Given the description of an element on the screen output the (x, y) to click on. 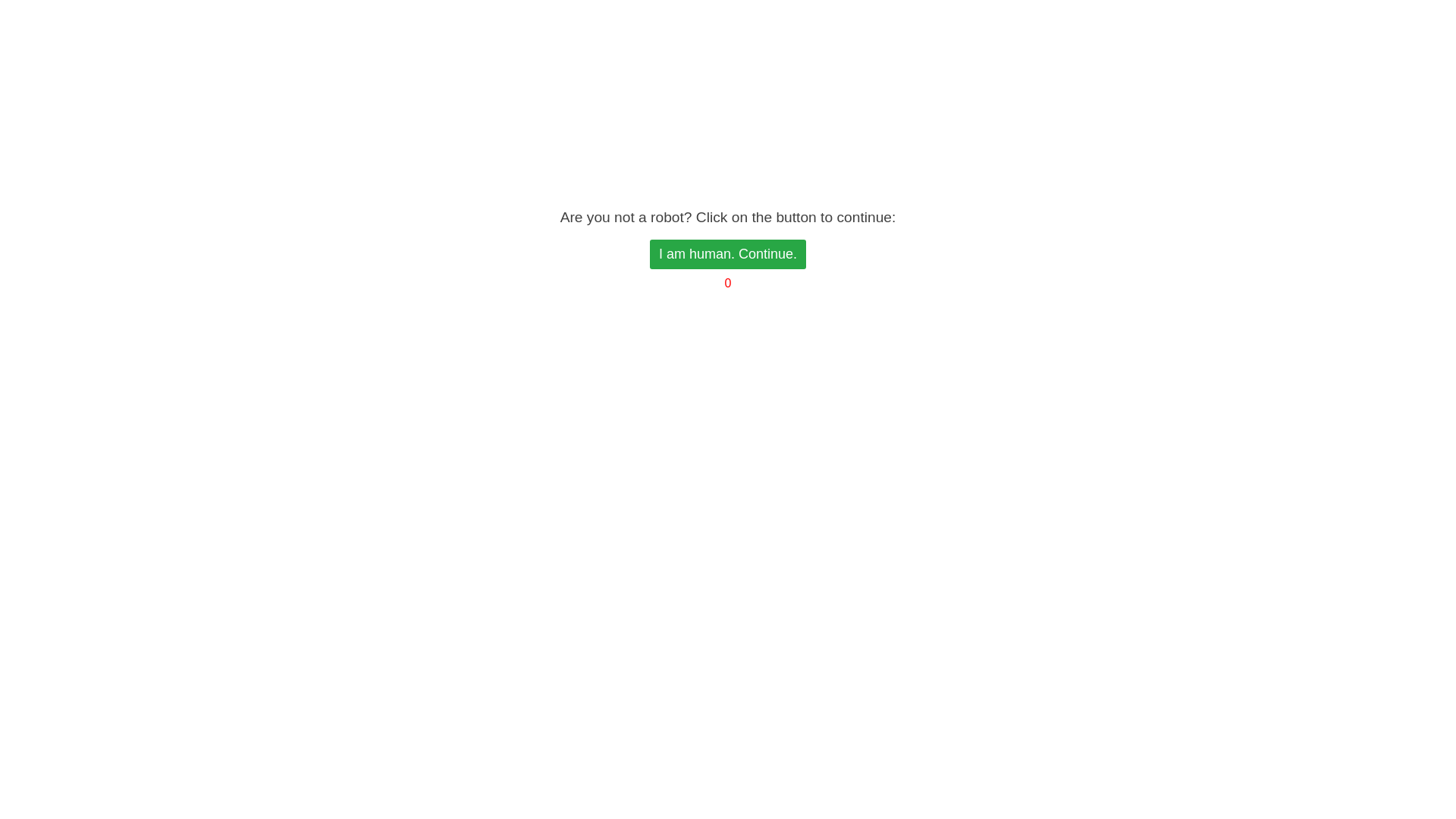
I am human. Continue. Element type: text (727, 254)
